Given the description of an element on the screen output the (x, y) to click on. 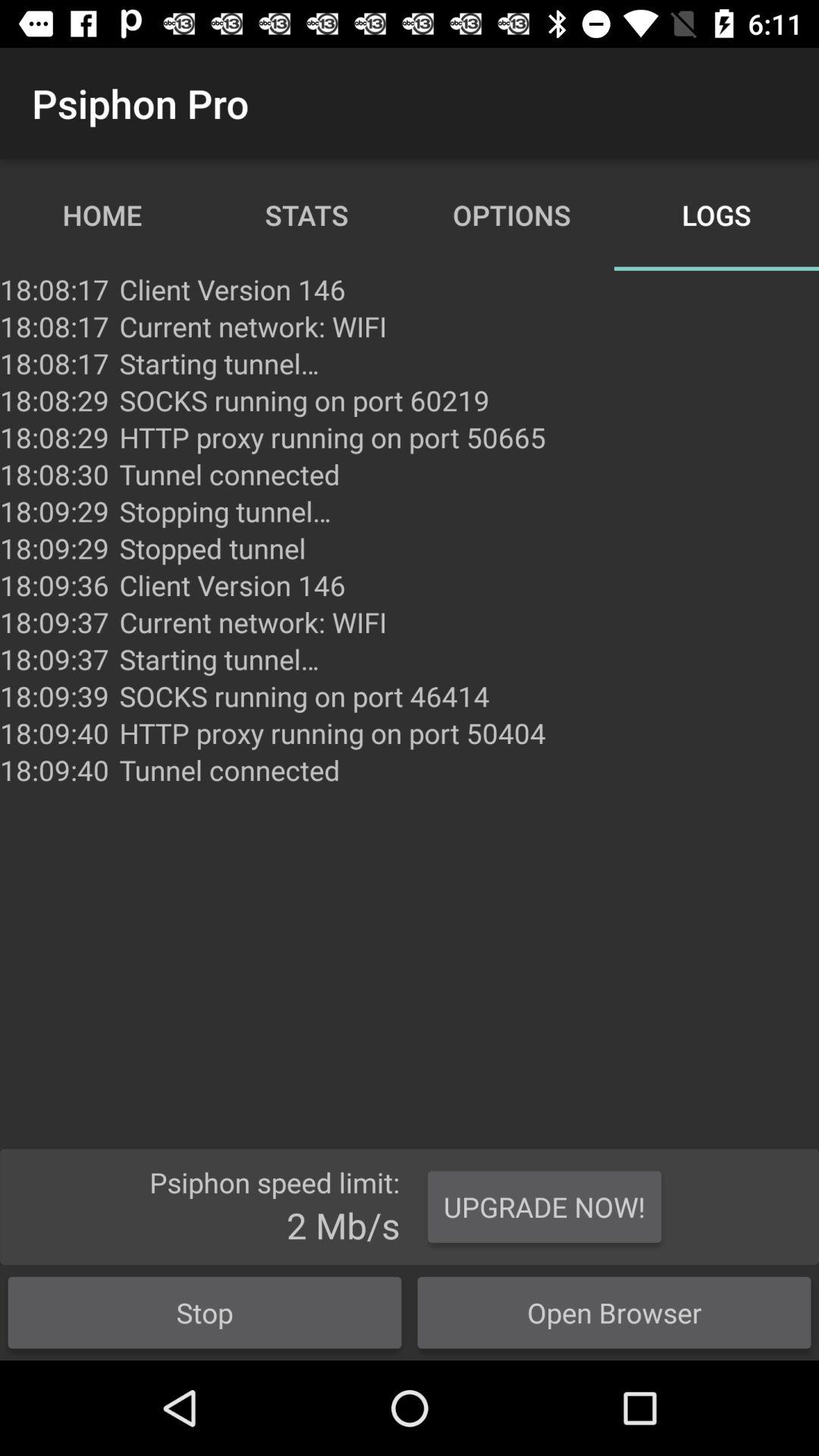
select icon to the left of open browser button (204, 1312)
